Given the description of an element on the screen output the (x, y) to click on. 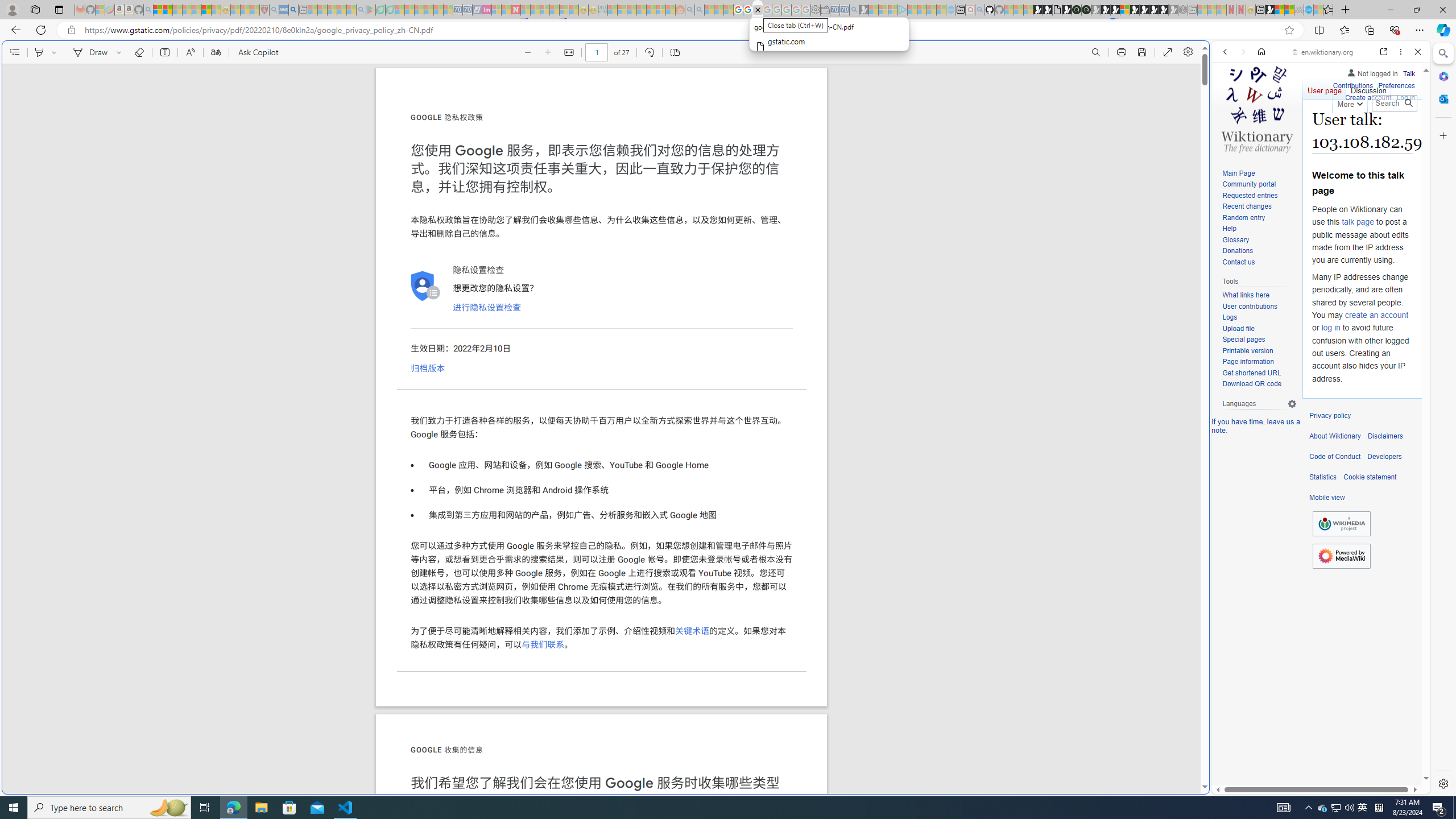
Future Focus Report 2024 (1085, 9)
Discussion (1367, 87)
AutomationID: footer-copyrightico (1341, 523)
Search Filter, IMAGES (1262, 129)
Requested entries (1259, 196)
Contact us (1259, 262)
Special pages (1259, 339)
Special pages (1243, 339)
